Given the description of an element on the screen output the (x, y) to click on. 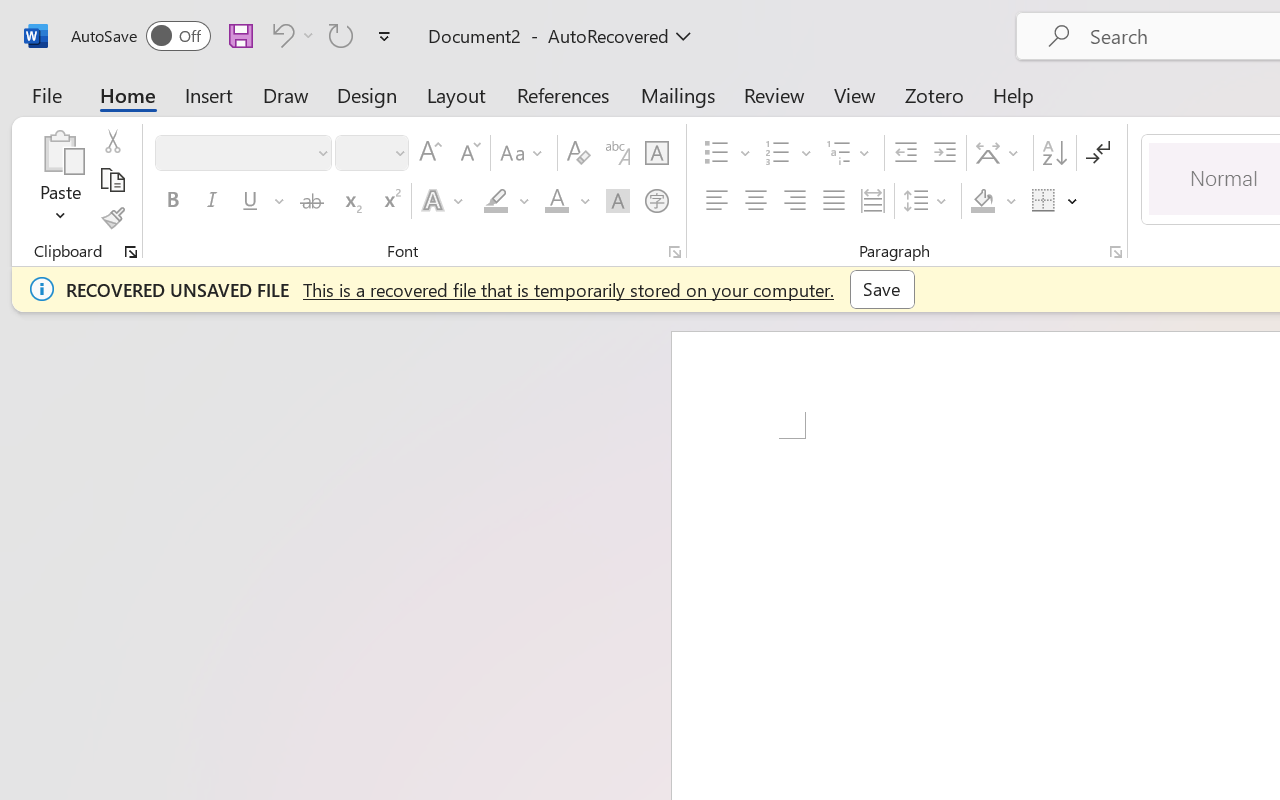
Text Effects and Typography (444, 201)
Decrease Indent (906, 153)
Clear Formatting (578, 153)
Distributed (872, 201)
Align Left (716, 201)
Can't Undo (280, 35)
Format Painter (112, 218)
Shrink Font (468, 153)
Asian Layout (1000, 153)
Show/Hide Editing Marks (1098, 153)
Can't Repeat (341, 35)
